Given the description of an element on the screen output the (x, y) to click on. 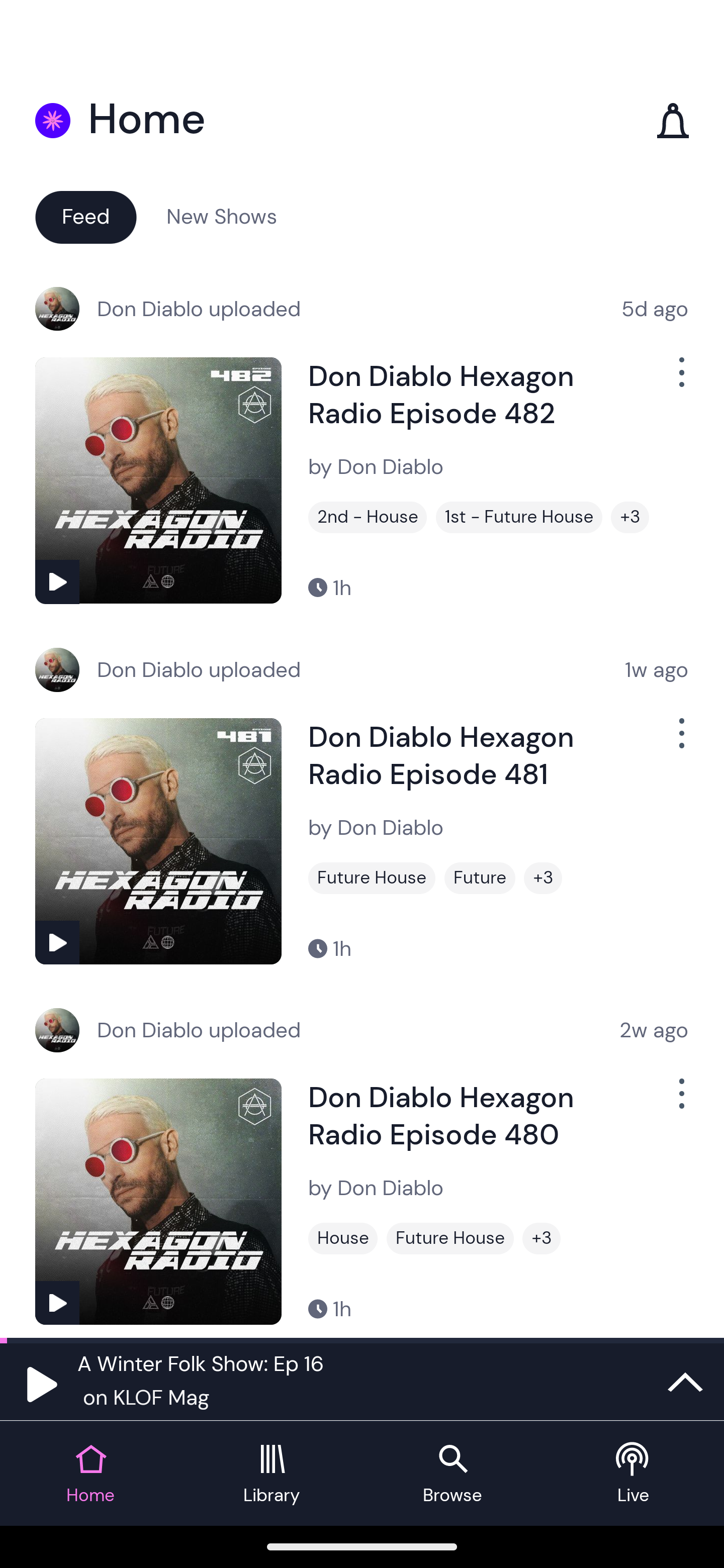
Feed (85, 216)
New Shows (221, 216)
Show Options Menu Button (679, 379)
2nd - House (367, 517)
1st - Future House (518, 517)
Show Options Menu Button (679, 740)
Future House (371, 877)
Future (479, 877)
Show Options Menu Button (679, 1101)
House (342, 1238)
Future House (450, 1238)
Home tab Home (90, 1473)
Library tab Library (271, 1473)
Browse tab Browse (452, 1473)
Live tab Live (633, 1473)
